Given the description of an element on the screen output the (x, y) to click on. 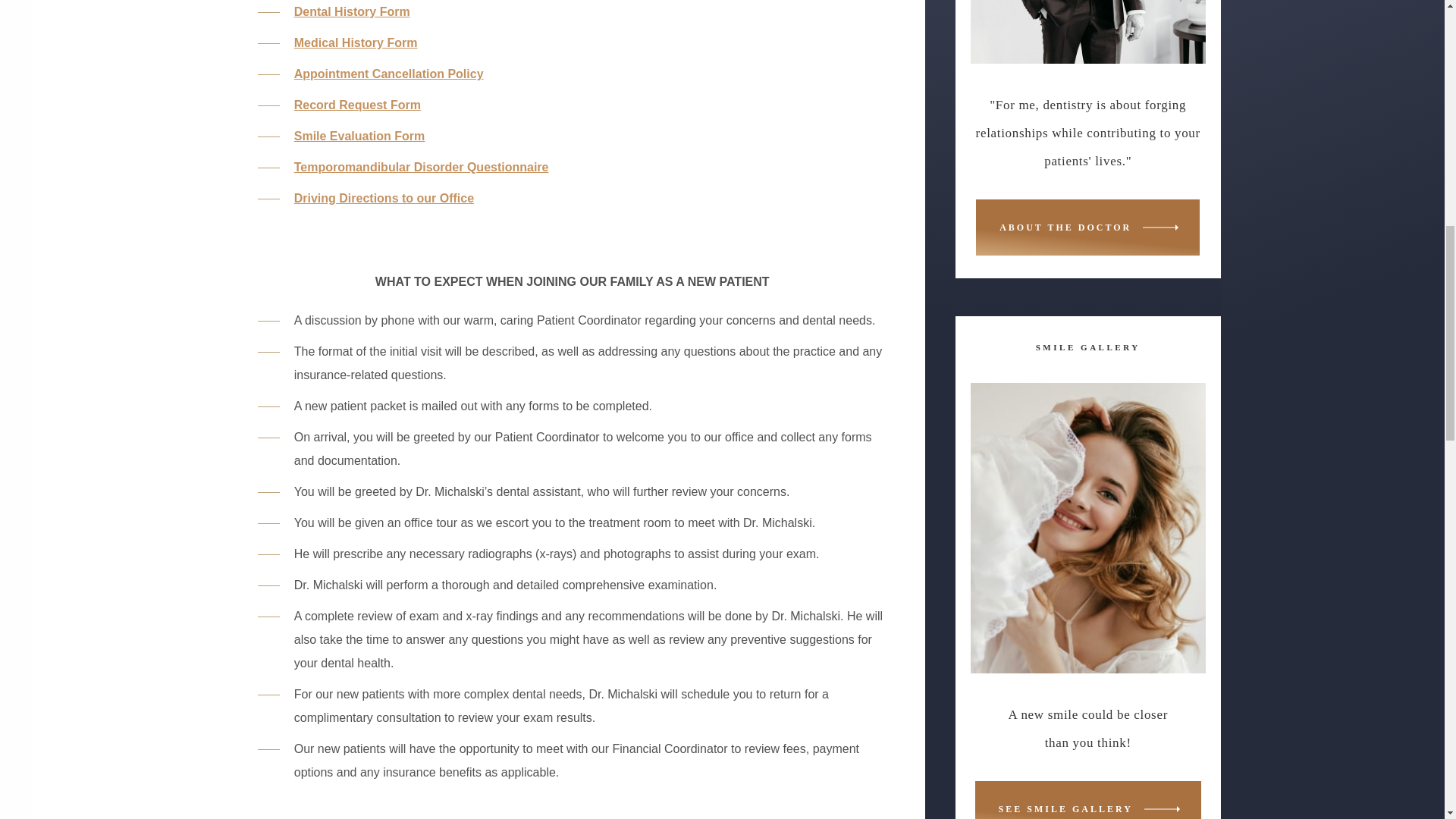
Medical History Form (355, 42)
Appointment Cancellation Policy (388, 73)
Dental History Form (352, 11)
